Given the description of an element on the screen output the (x, y) to click on. 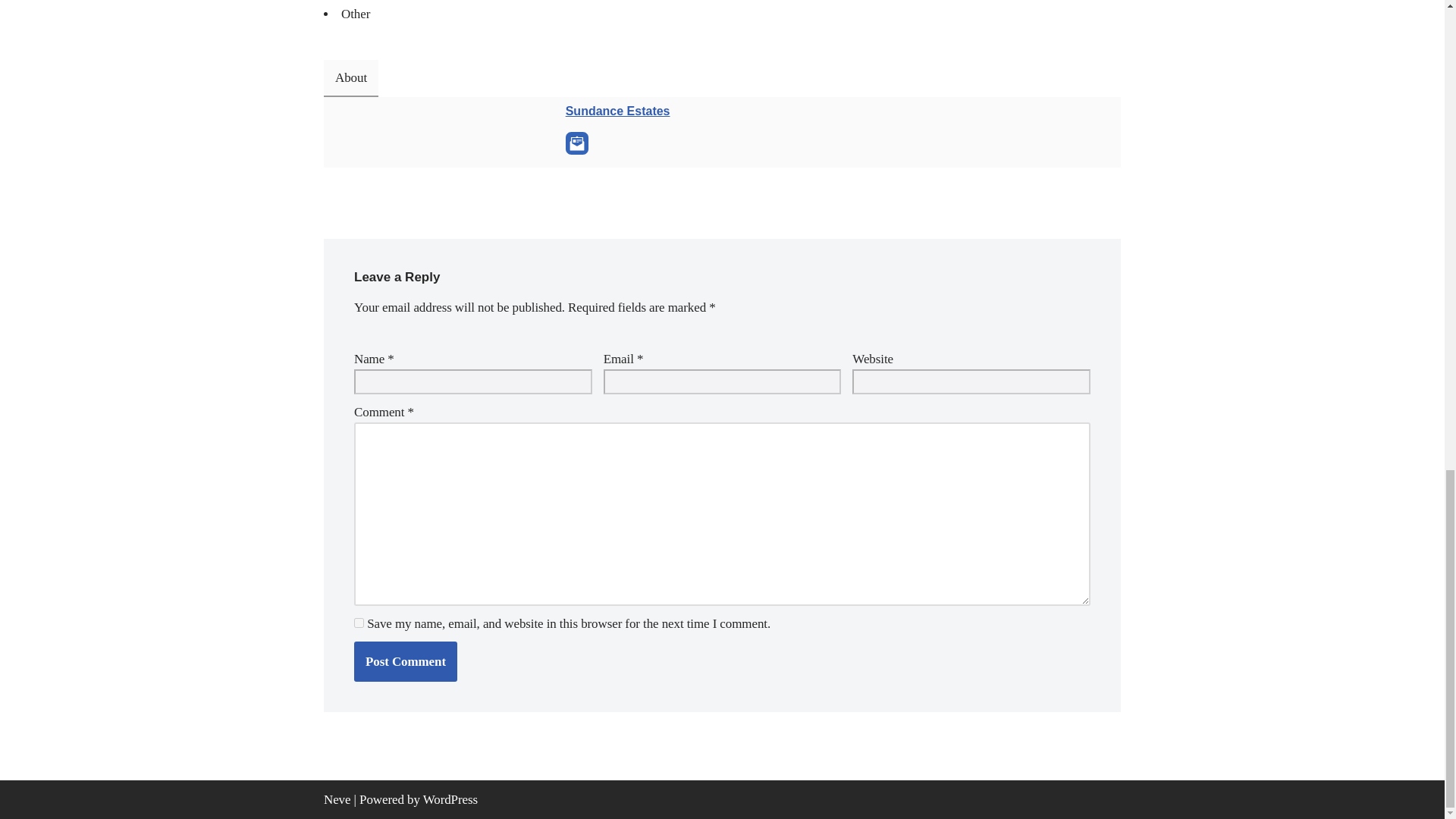
Contact Sundance Estates by Email (577, 142)
Sundance Estates (617, 110)
Post Comment (405, 661)
yes (358, 623)
